Given the description of an element on the screen output the (x, y) to click on. 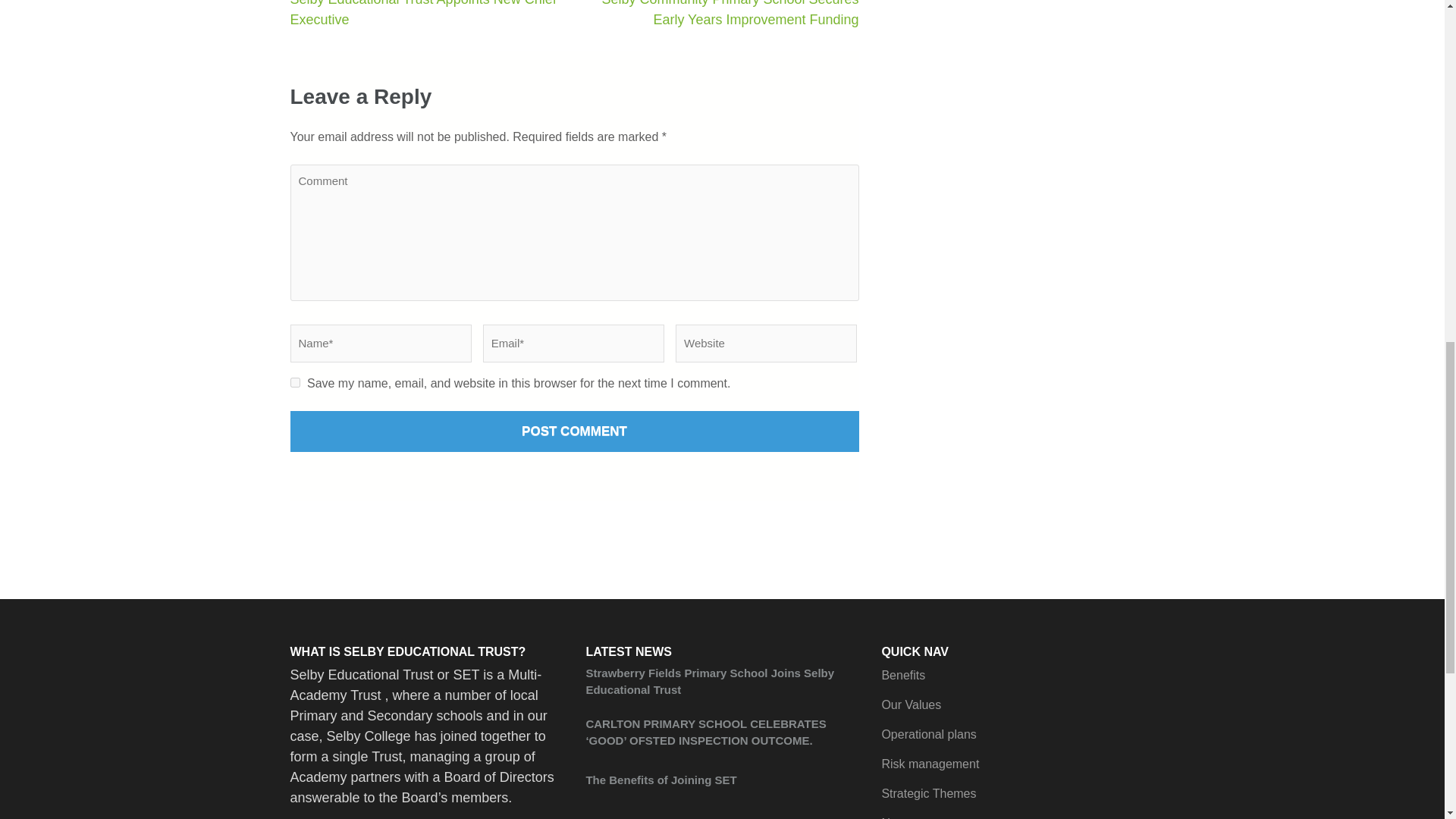
Post Comment (574, 431)
yes (294, 382)
